Given the description of an element on the screen output the (x, y) to click on. 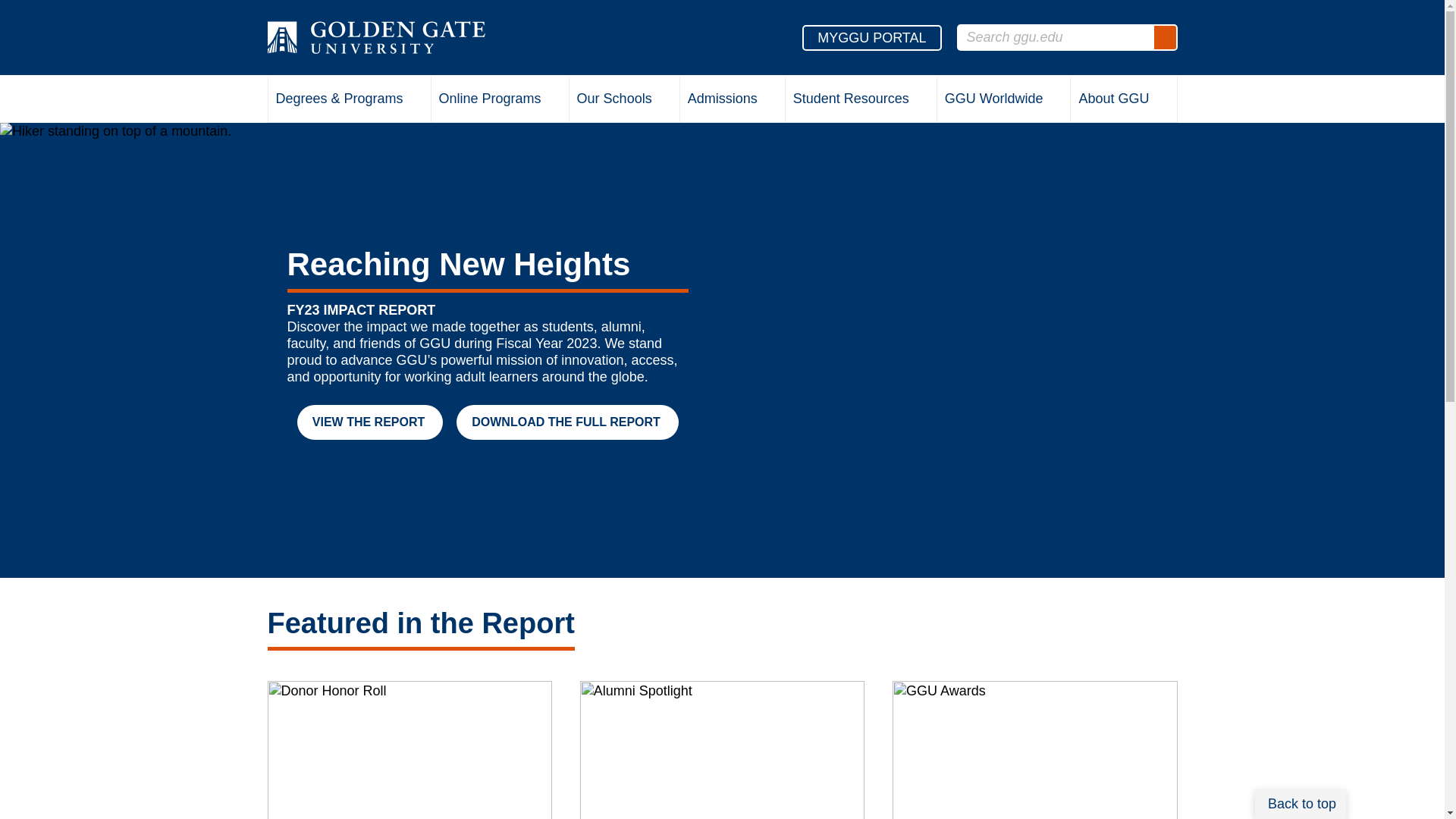
Expand Admissions Submenu (769, 100)
Student Resources (861, 100)
GGU Worldwide (1003, 100)
Expand Student Resources Submenu (921, 100)
Admissions (731, 100)
Search (1165, 37)
About GGU (1123, 100)
Online Programs (499, 100)
Our Schools (624, 100)
Expand Our Schools Submenu (664, 100)
